Given the description of an element on the screen output the (x, y) to click on. 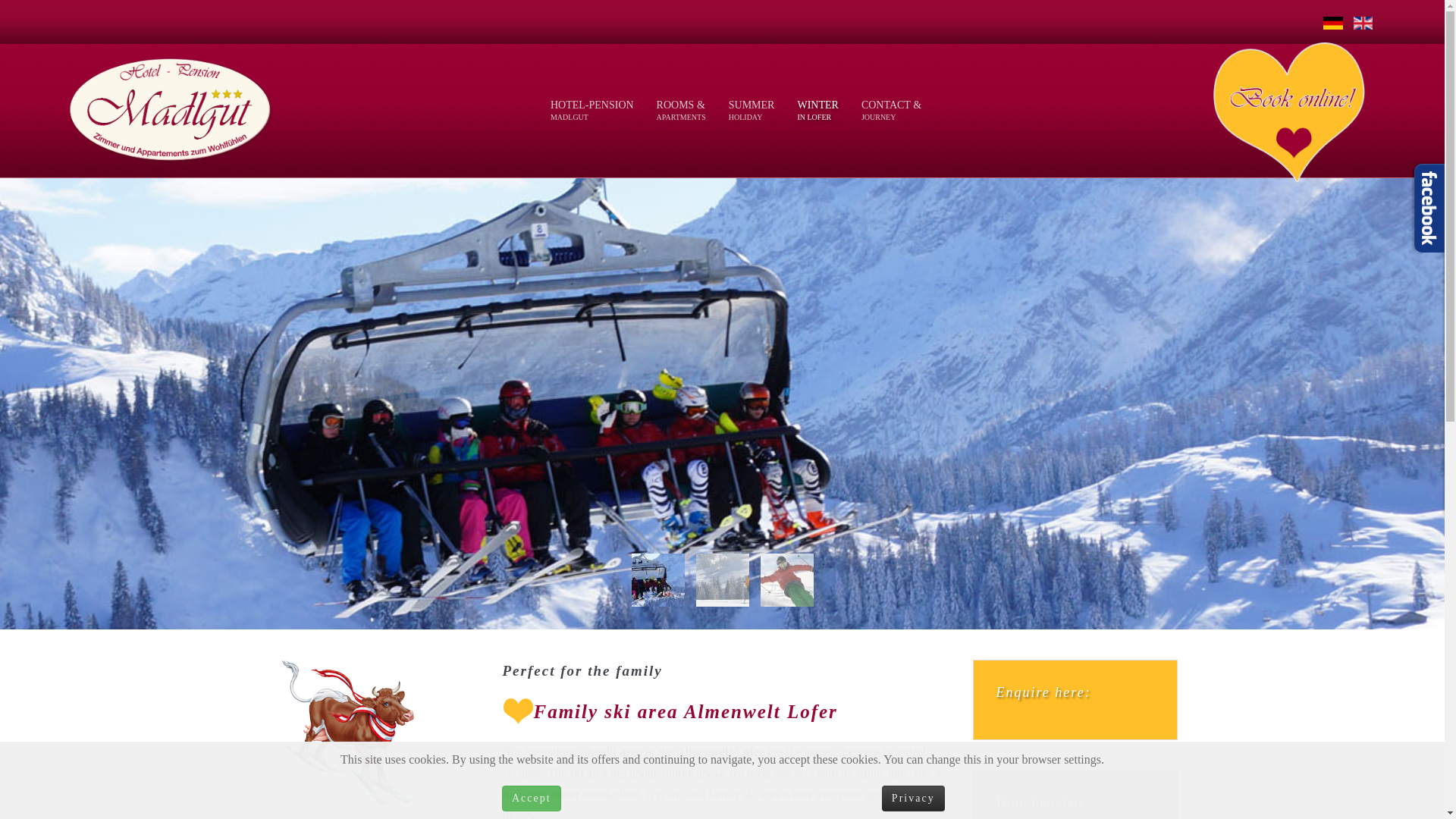
Book online (1288, 110)
Skialm Lofer (339, 734)
